Given the description of an element on the screen output the (x, y) to click on. 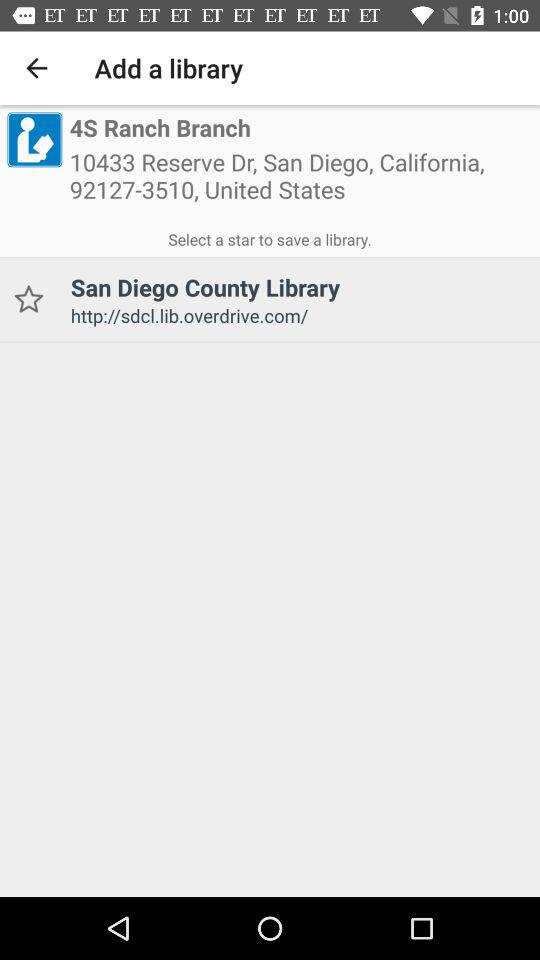
select the item above the 10433 reserve dr item (159, 128)
